Given the description of an element on the screen output the (x, y) to click on. 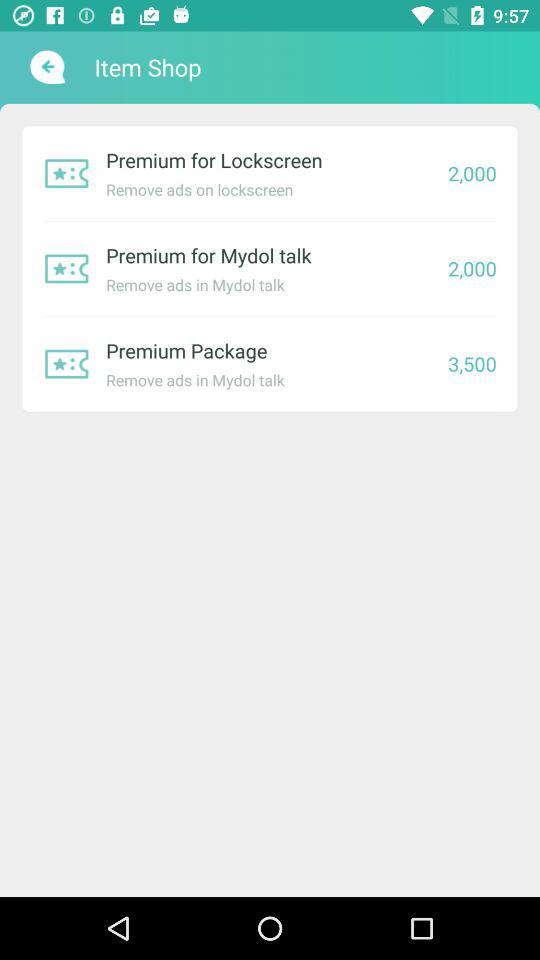
turn off item next to the item shop item (45, 67)
